Given the description of an element on the screen output the (x, y) to click on. 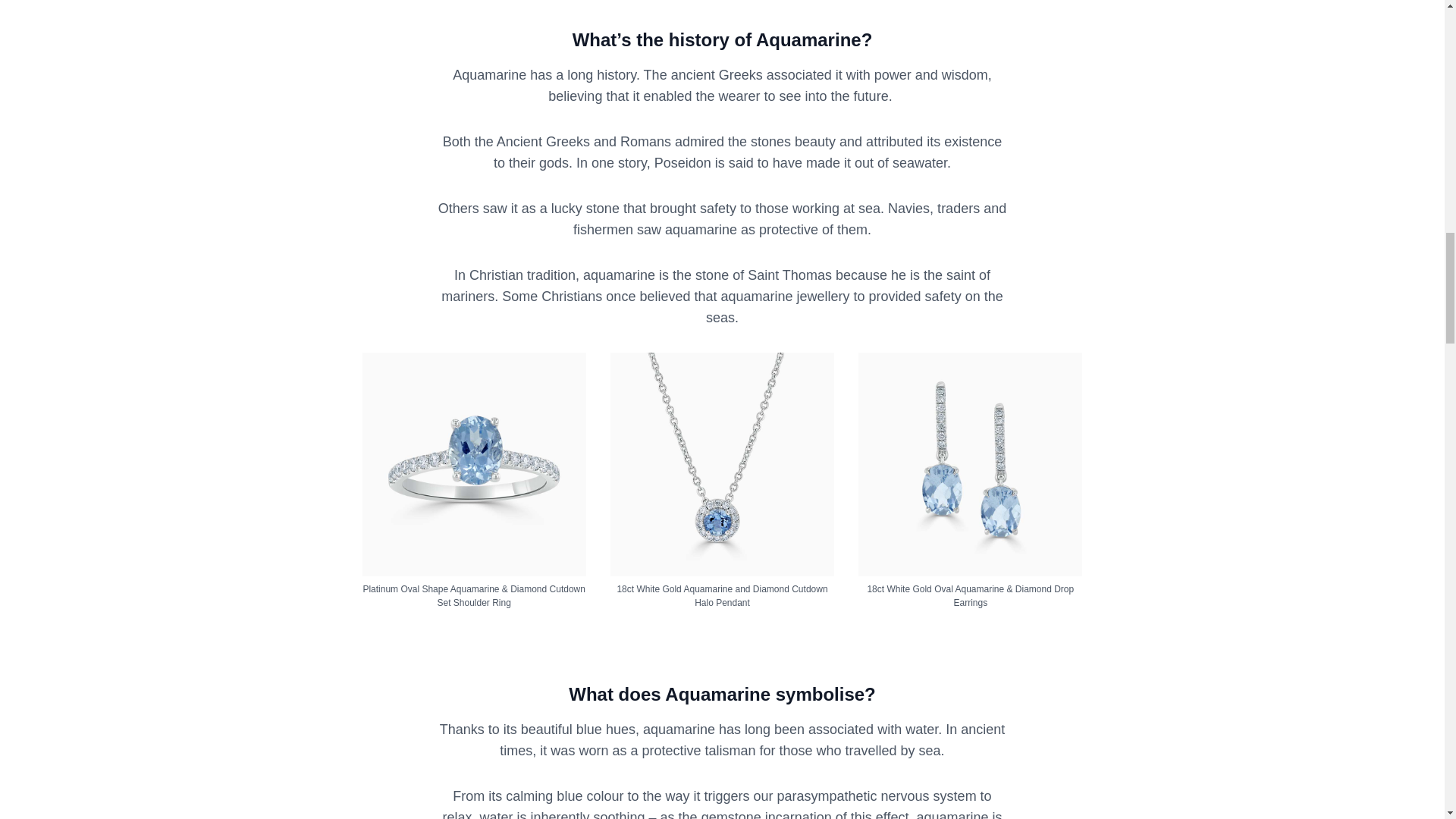
18ct White Gold Aquamarine and Diamond Cutdown Halo Pendant (721, 595)
